Given the description of an element on the screen output the (x, y) to click on. 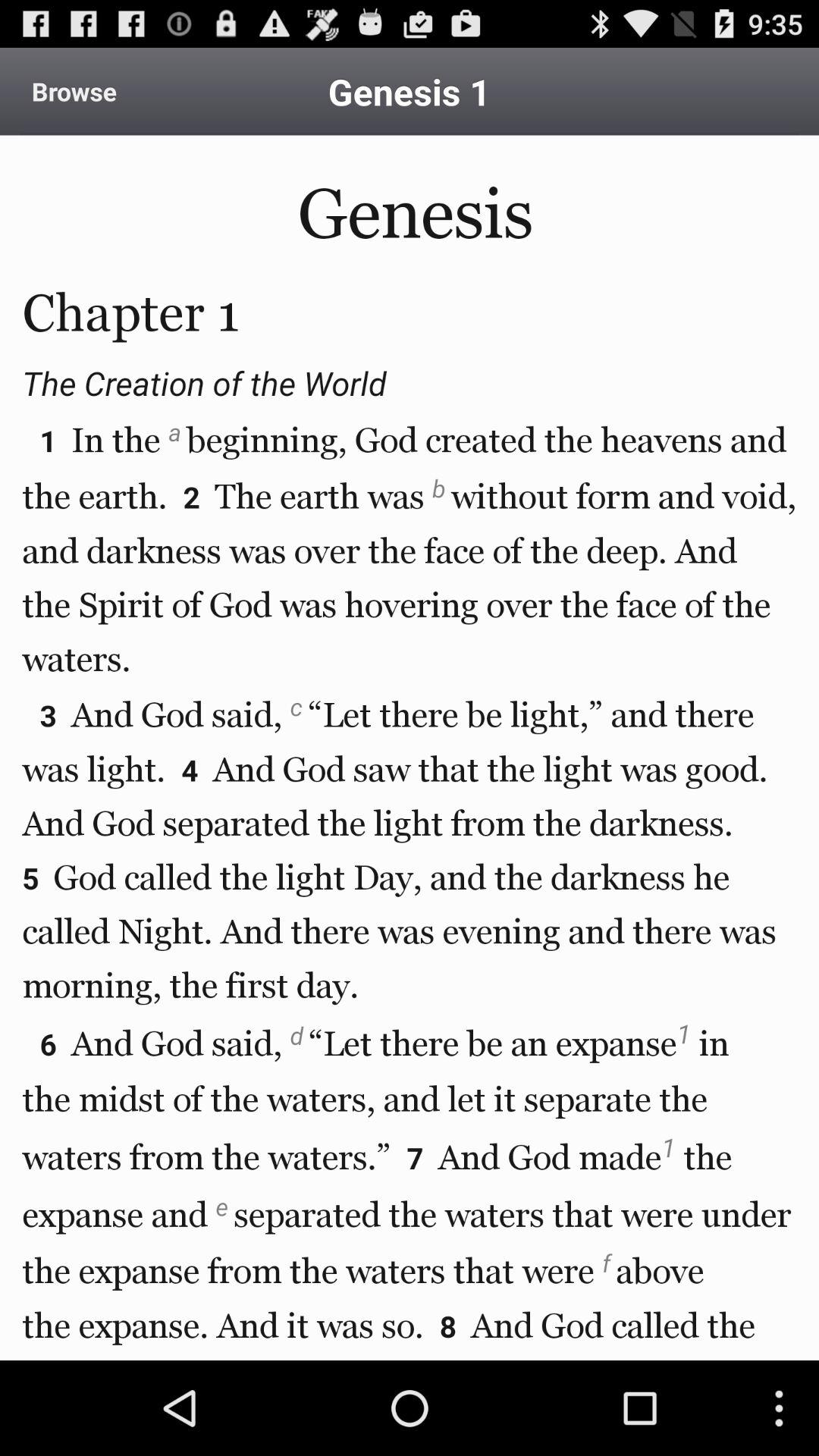
open the item at the top left corner (73, 91)
